Given the description of an element on the screen output the (x, y) to click on. 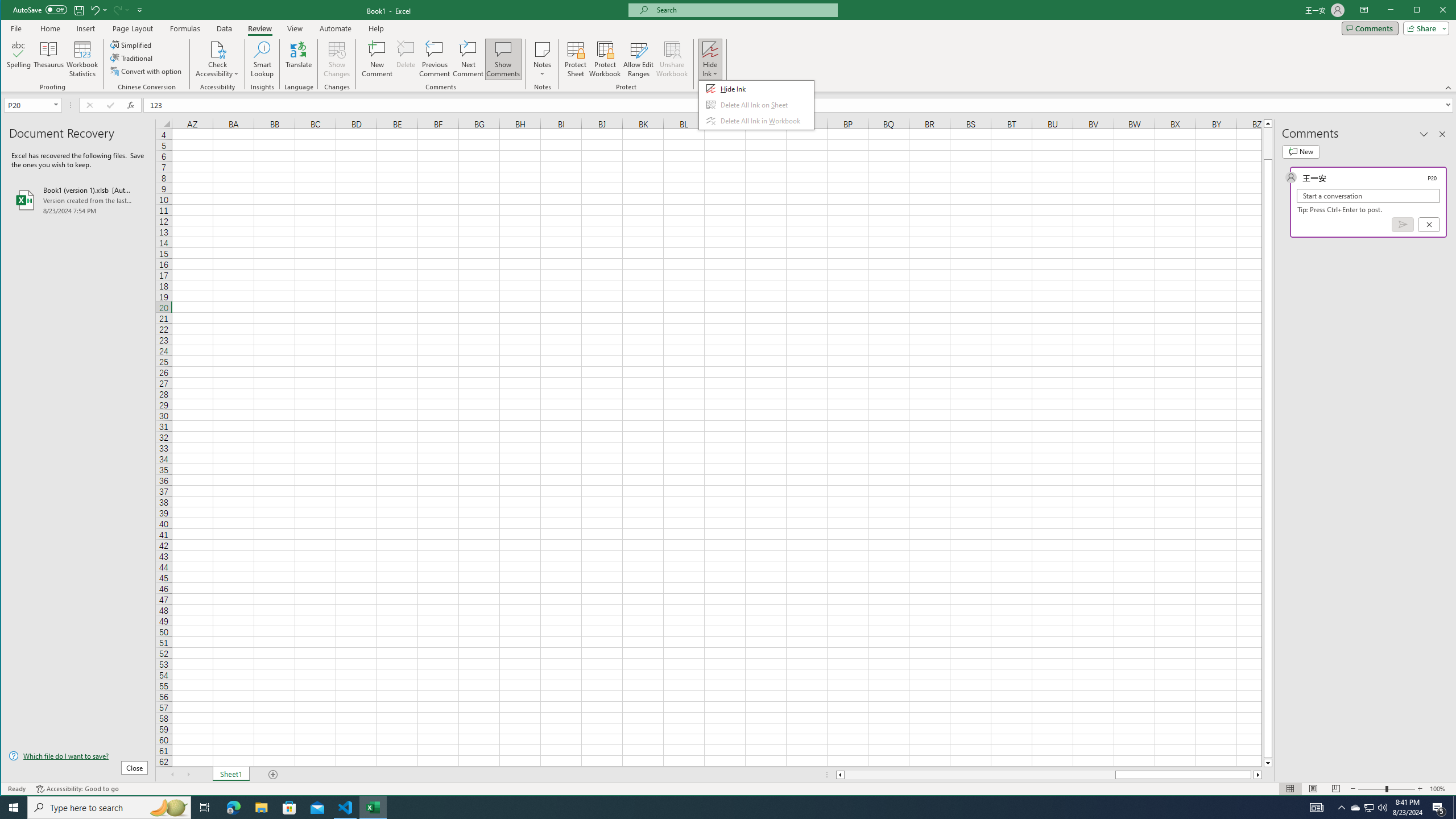
Workbook Statistics (82, 59)
Notes (541, 59)
Simplified (132, 44)
Action Center, 5 new notifications (1439, 807)
